Given the description of an element on the screen output the (x, y) to click on. 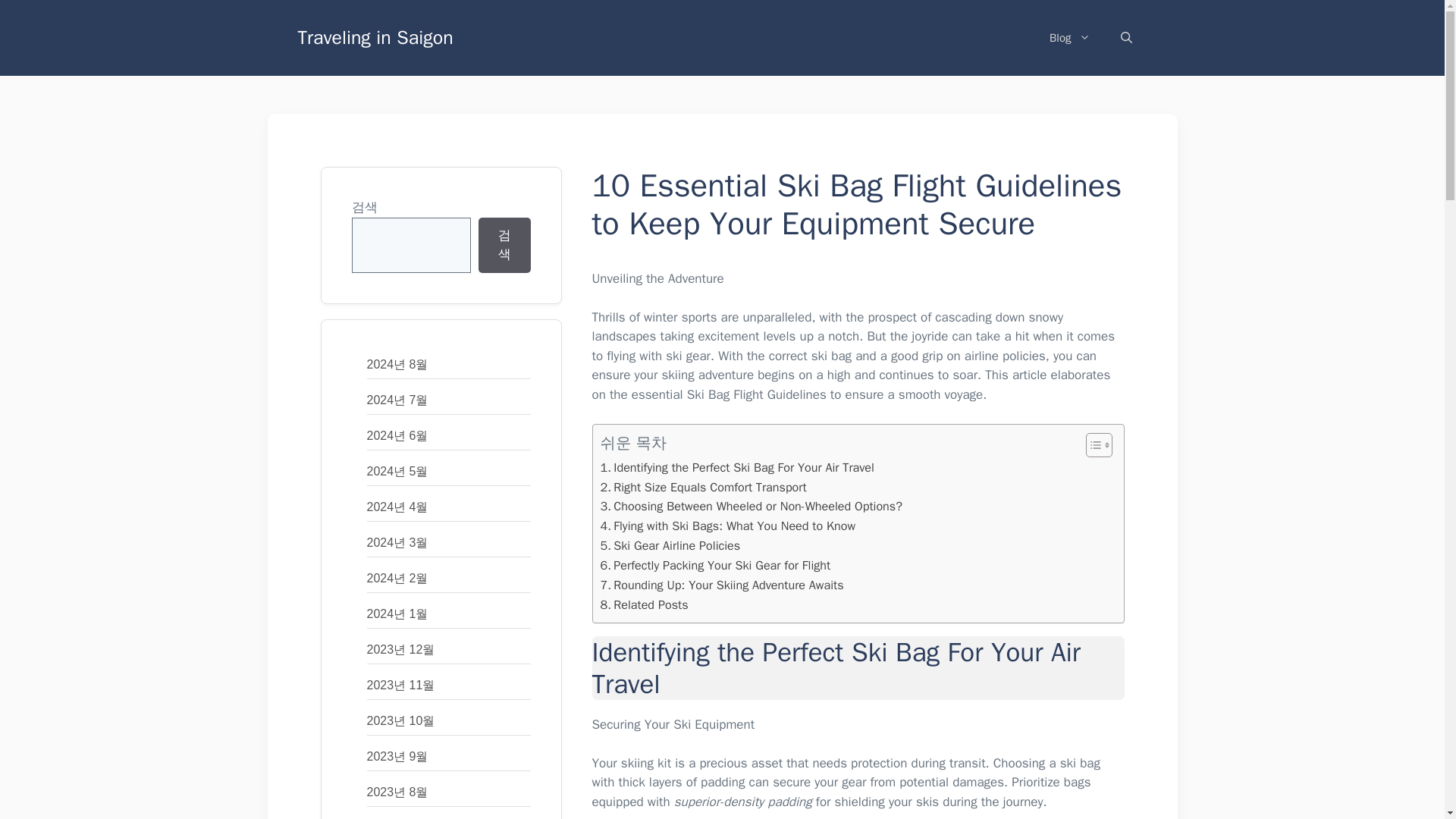
Rounding Up: Your Skiing Adventure Awaits (721, 585)
Flying with Ski Bags: What You Need to Know  (727, 526)
Right Size Equals Comfort Transport (702, 487)
Ski Gear Airline Policies (670, 546)
Identifying the Perfect Ski Bag For Your Air Travel (737, 467)
Ski Gear Airline Policies (670, 546)
Choosing Between Wheeled or Non-Wheeled Options? (750, 506)
Rounding Up: Your Skiing Adventure Awaits (721, 585)
Perfectly Packing Your Ski Gear for Flight (715, 565)
Traveling in Saigon (374, 37)
Related Posts (643, 605)
Blog (1069, 37)
Identifying the Perfect Ski Bag For Your Air Travel (737, 467)
Right Size Equals Comfort Transport (702, 487)
Perfectly Packing Your Ski Gear for Flight (715, 565)
